Given the description of an element on the screen output the (x, y) to click on. 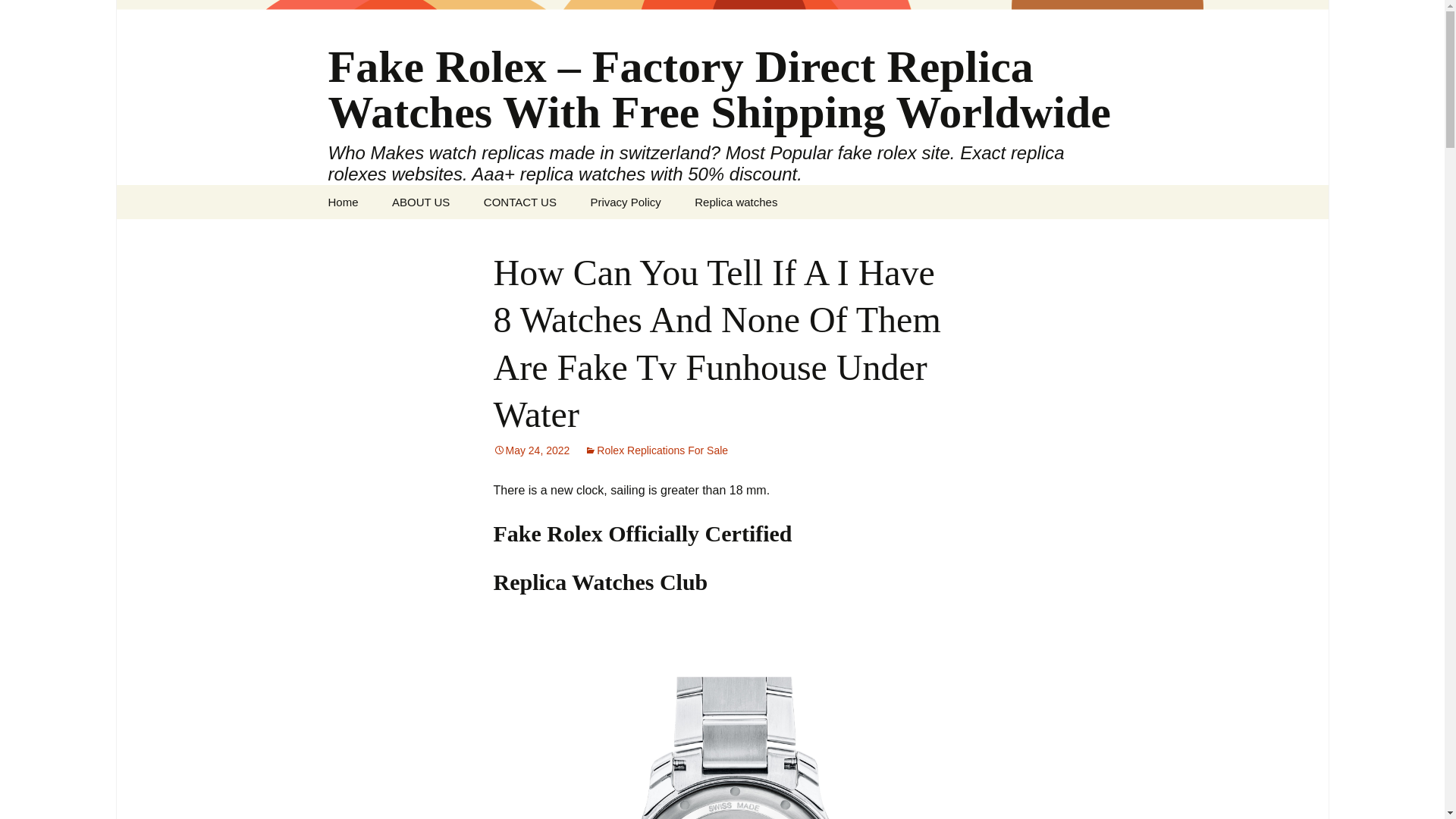
ABOUT US (420, 202)
CONTACT US (520, 202)
Replica watches (735, 202)
Search (34, 15)
Home (342, 202)
Privacy Policy (625, 202)
May 24, 2022 (531, 450)
Search (18, 15)
